Given the description of an element on the screen output the (x, y) to click on. 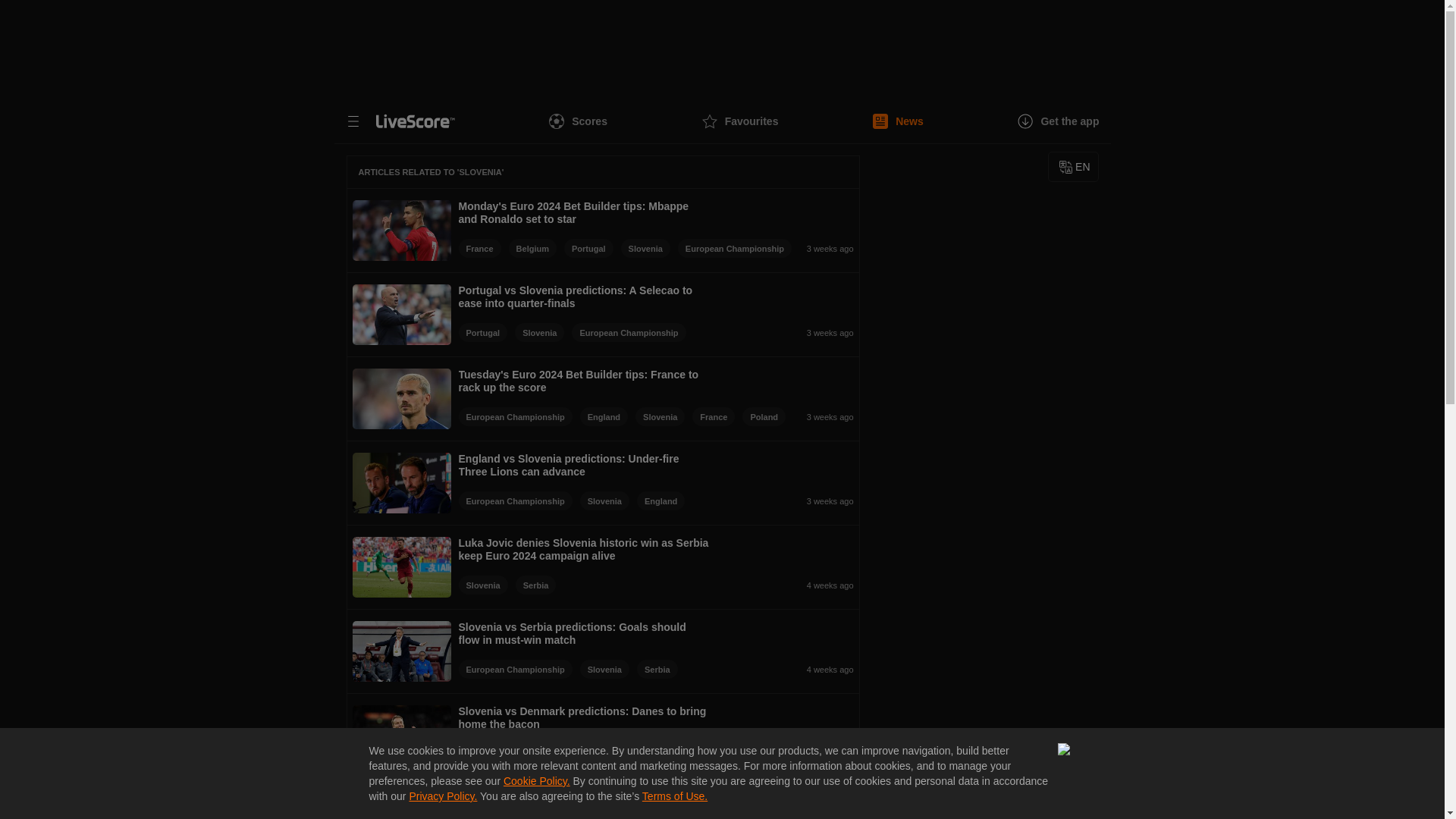
England (603, 416)
News (897, 120)
Portugal (482, 332)
Slovenia (659, 416)
3 weeks ago (773, 332)
Close (1066, 751)
European Championship (515, 416)
Get the app (1058, 120)
European Championship (515, 500)
3 weeks ago (826, 248)
Portugal (588, 248)
Terms of Use. (674, 796)
3 weeks ago (823, 416)
